Given the description of an element on the screen output the (x, y) to click on. 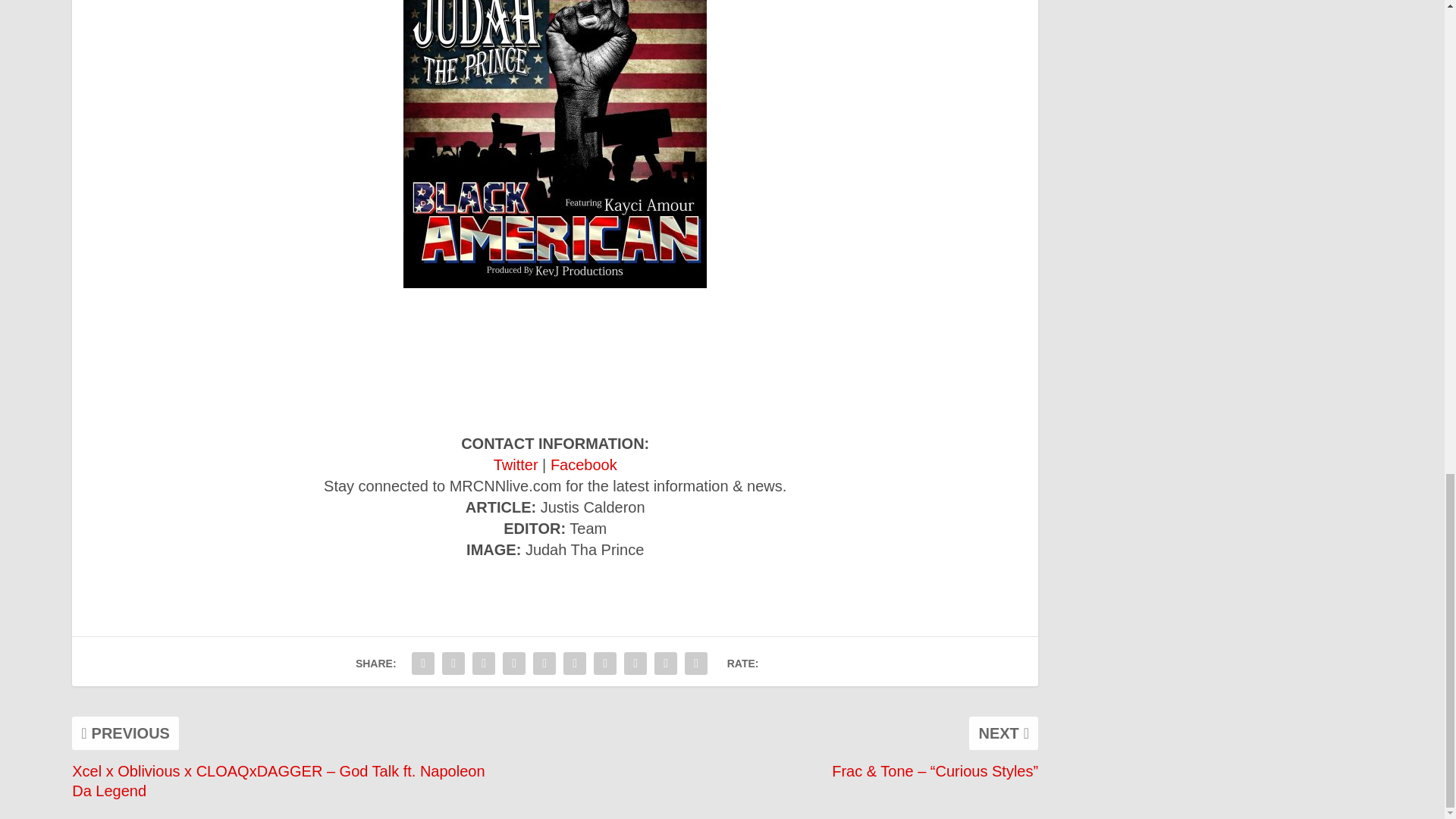
Twitter (515, 464)
Facebook (583, 464)
